Given the description of an element on the screen output the (x, y) to click on. 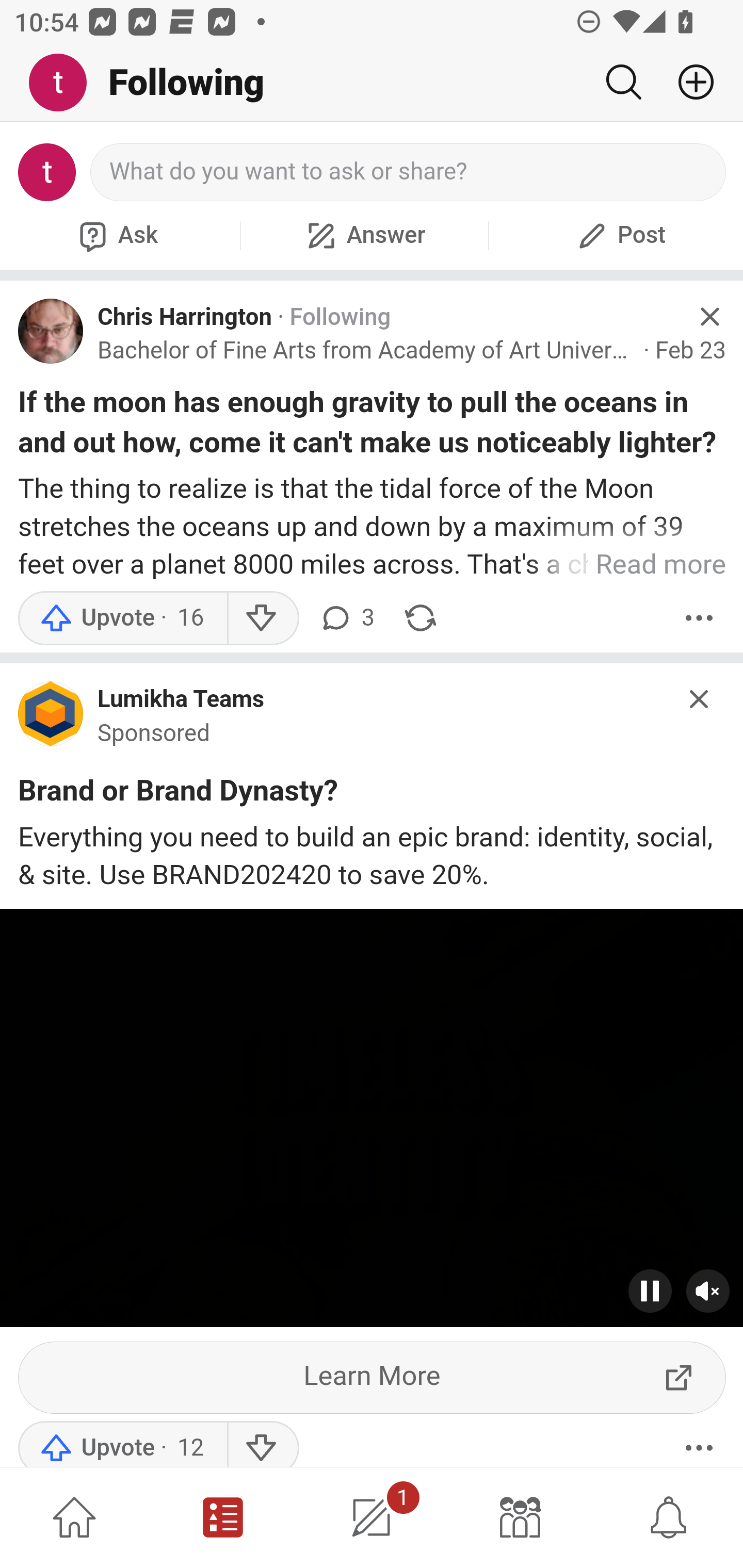
Me (64, 83)
Search (623, 82)
Add (688, 82)
What do you want to ask or share? (408, 172)
Ask (116, 234)
Answer (364, 234)
Post (618, 234)
Hide (709, 316)
Profile photo for Chris Harrington (50, 330)
Chris Harrington (184, 316)
Following (340, 316)
Upvote (122, 617)
Downvote (262, 617)
3 comments (346, 617)
Share (420, 617)
More (699, 617)
Hide (699, 699)
main-qimg-f5d4e8fd1215ba730a24b98a5815bcba (50, 717)
Lumikha Teams (181, 700)
Sponsored (154, 733)
Brand or Brand Dynasty? (178, 794)
Pause (650, 1290)
VolumeMuted (708, 1290)
Learn More ExternalLink (372, 1377)
Upvote (122, 1444)
Downvote (262, 1444)
More (699, 1444)
1 (371, 1517)
